Given the description of an element on the screen output the (x, y) to click on. 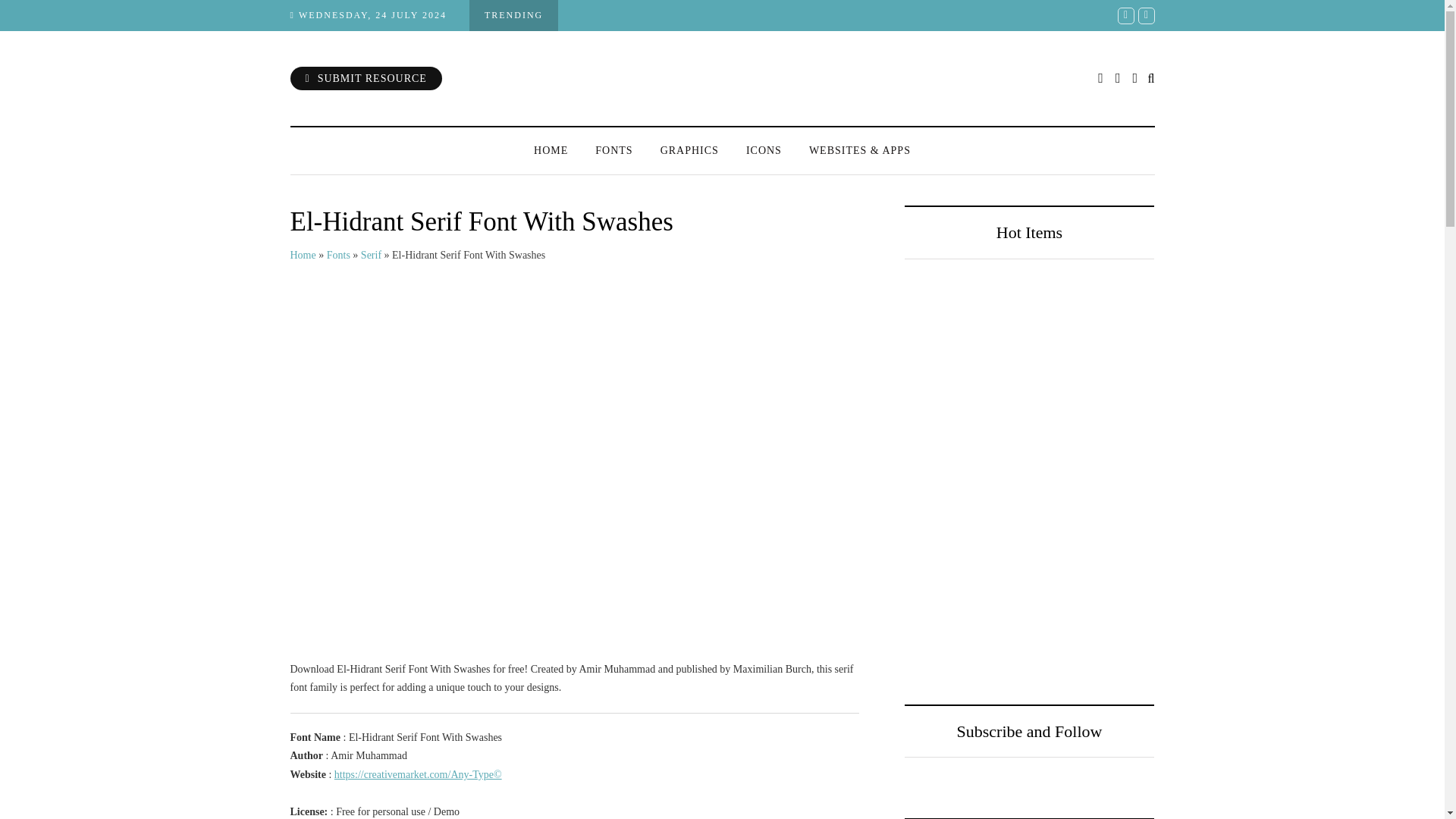
SUBMIT RESOURCE (365, 78)
FONTS (613, 150)
Home (302, 255)
GRAPHICS (689, 150)
HOME (549, 150)
Serif (371, 255)
ICONS (763, 150)
Fonts (338, 255)
